Given the description of an element on the screen output the (x, y) to click on. 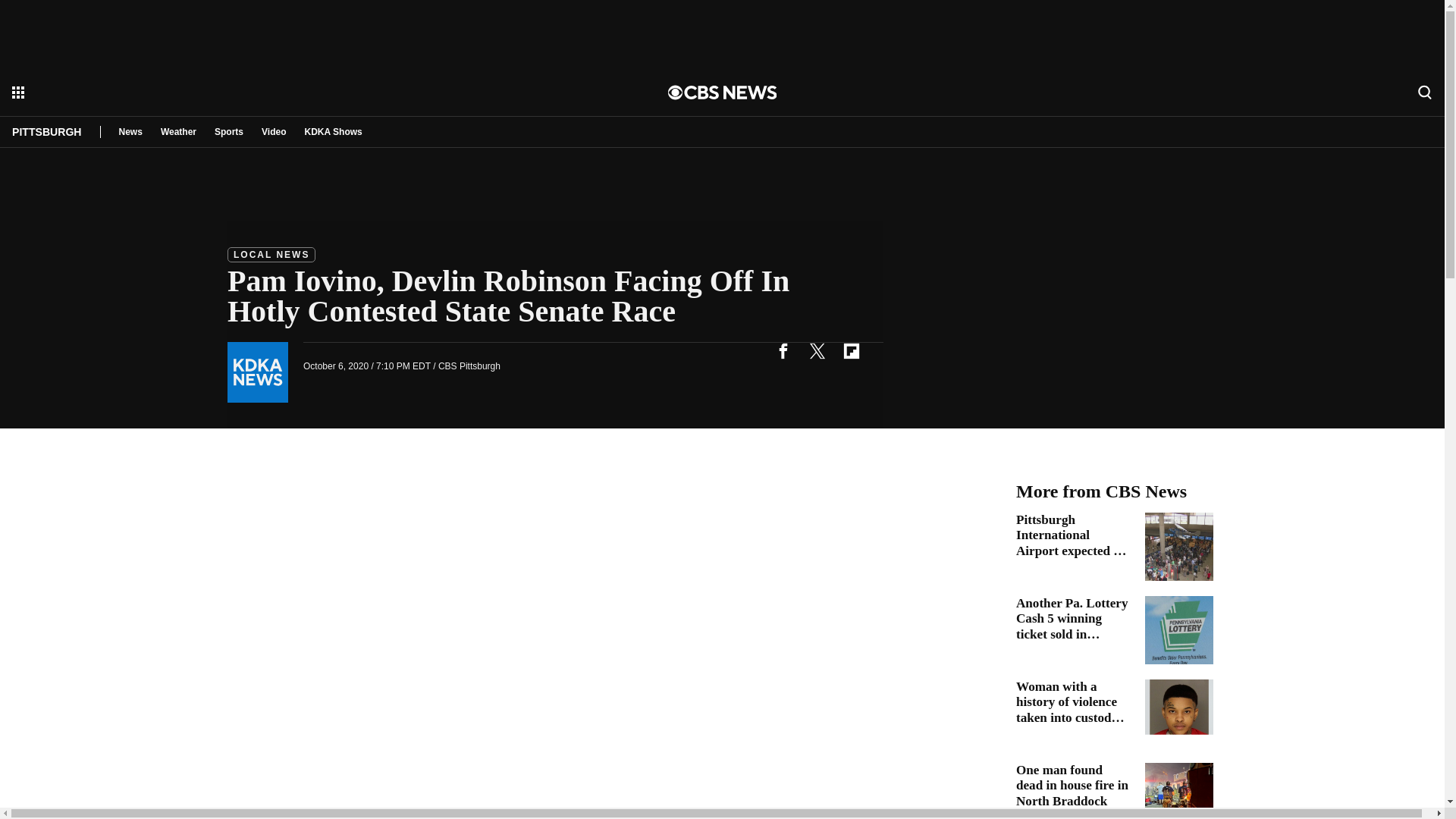
flipboard (850, 350)
facebook (782, 350)
twitter (816, 350)
